Given the description of an element on the screen output the (x, y) to click on. 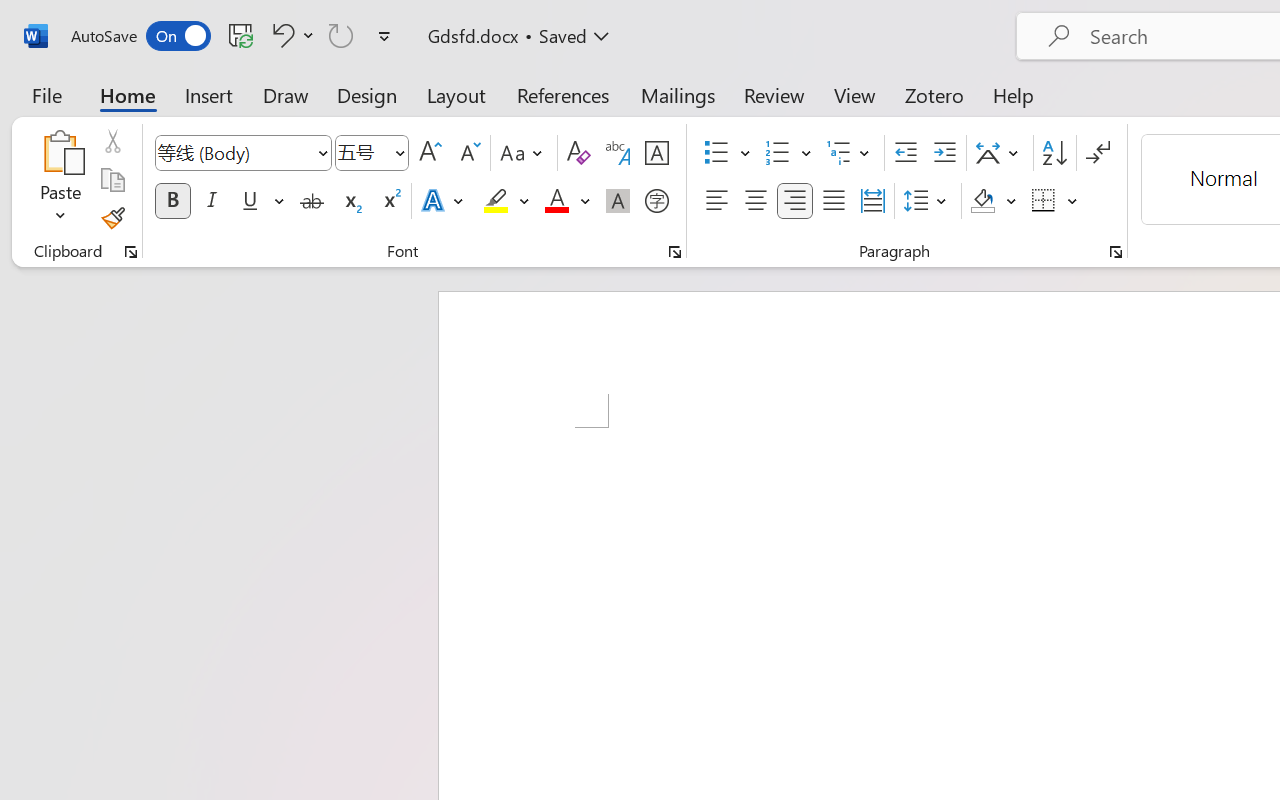
Center (756, 201)
Office Clipboard... (131, 252)
Character Border (656, 153)
Superscript (390, 201)
Clear Formatting (578, 153)
Copy (112, 179)
Font Color (567, 201)
Justify (834, 201)
Change Case (524, 153)
Text Highlight Color (506, 201)
